Given the description of an element on the screen output the (x, y) to click on. 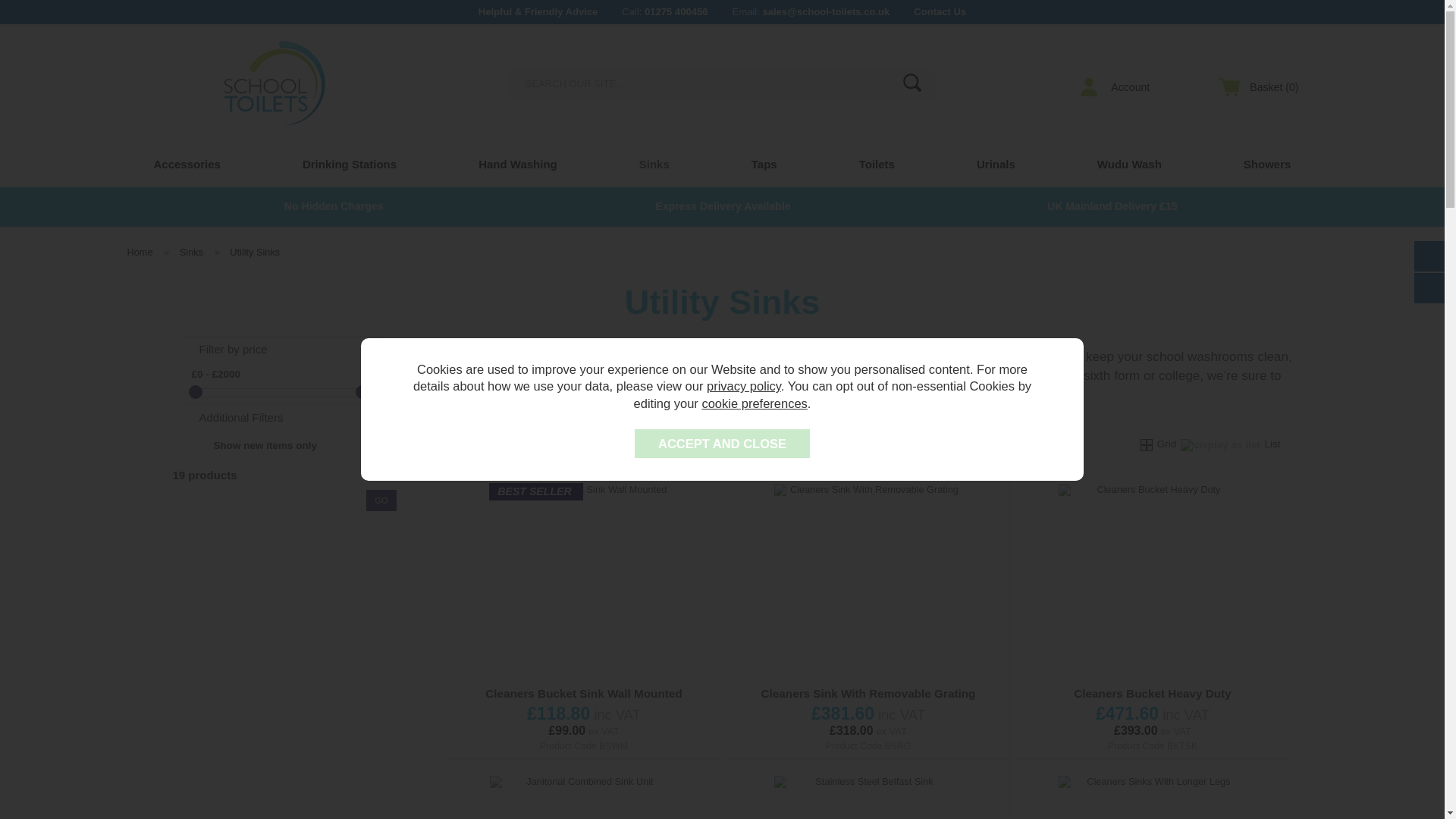
my account (1118, 86)
Accept and close (721, 443)
Sort (672, 445)
Contact Us (940, 11)
Hand Washing (518, 164)
Accessories (185, 164)
Search (912, 82)
Drinking Stations (349, 164)
School Toilets (275, 82)
01275 400456 (676, 11)
